Given the description of an element on the screen output the (x, y) to click on. 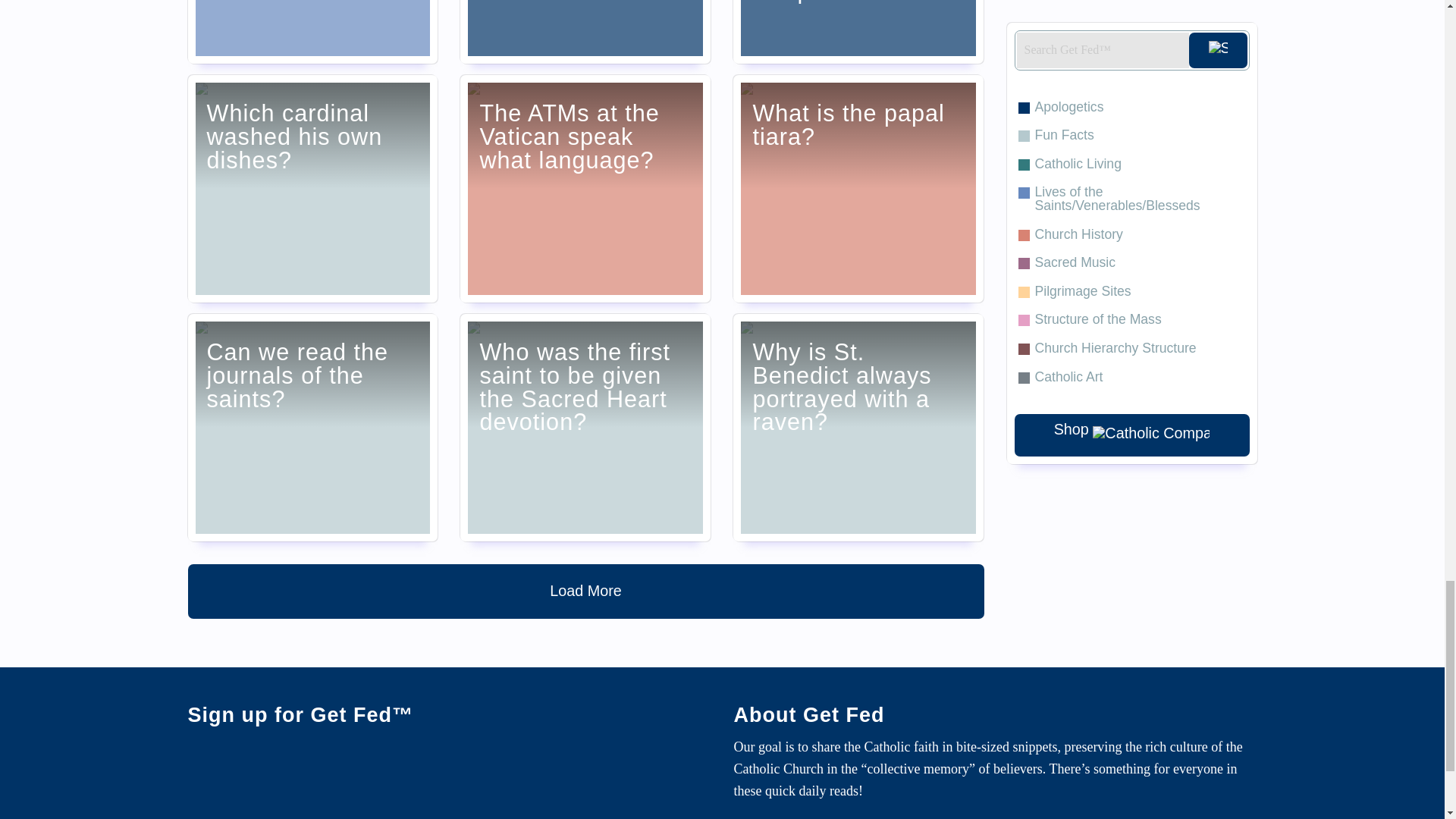
Why is St. Benedict always portrayed with a raven? (858, 427)
Which cardinal washed his own dishes? (312, 188)
What is the papal tiara? (858, 188)
The ATMs at the Vatican speak what language? (585, 188)
Can we read the journals of the saints? (312, 427)
Can Catholics drink alcohol? (585, 31)
Load More (585, 591)
Where in the Old Testament do we find St. Mary Magdalene? (312, 31)
